Given the description of an element on the screen output the (x, y) to click on. 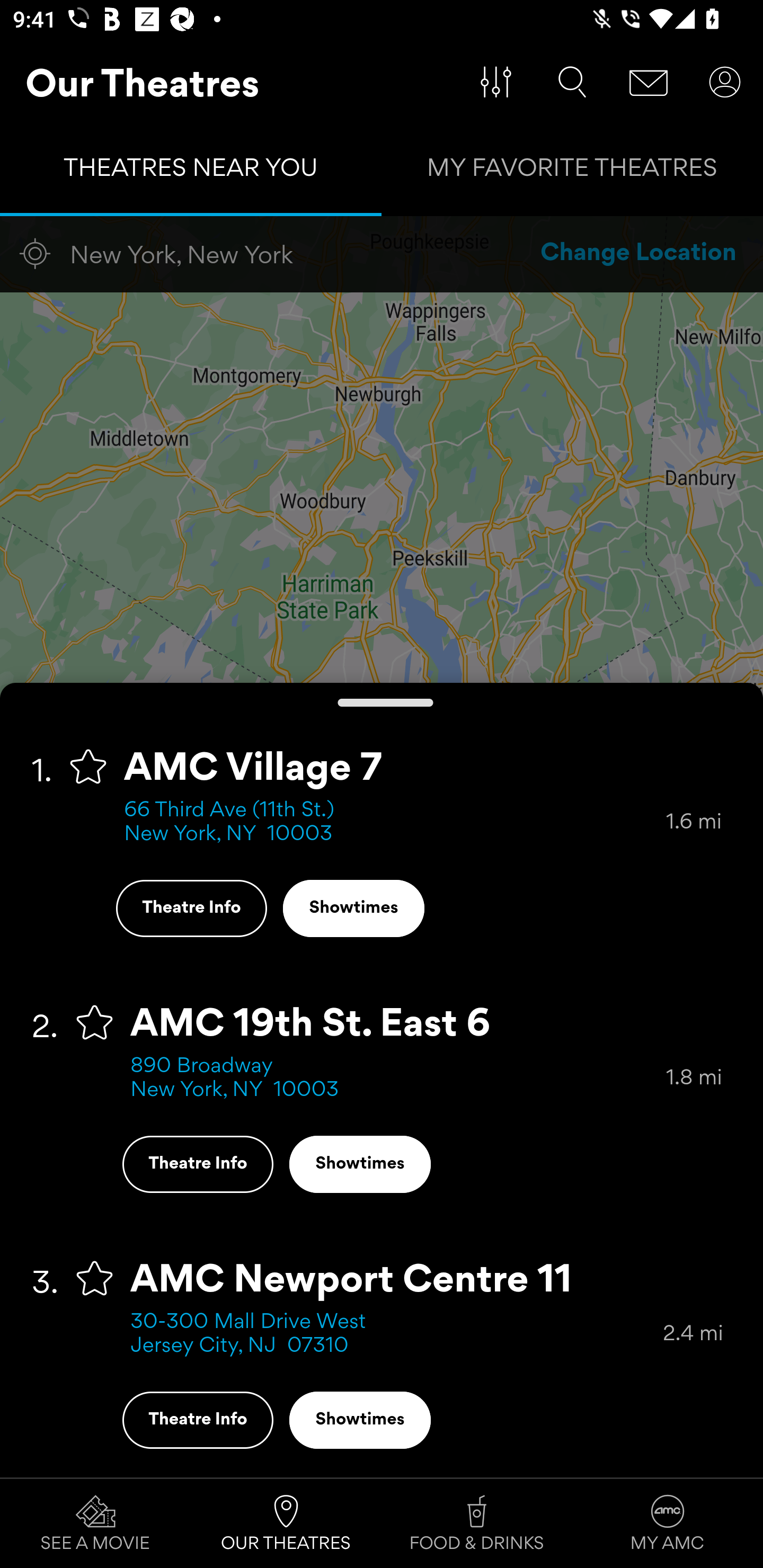
Filter Theatres (495, 82)
Search (572, 82)
Message Center (648, 82)
User Account (724, 82)
THEATRES NEAR YOU
Tab 1 of 2 (190, 171)
MY FAVORITE THEATRES
Tab 2 of 2 (572, 171)
66 Third Ave (11th St.)  
New York, NY  10003 (394, 822)
Theatre Info (191, 908)
Showtimes (353, 908)
890 Broadway  
New York, NY  10003 (398, 1078)
Theatre Info (197, 1163)
Showtimes (360, 1163)
30-300 Mall Drive West  
Jersey City, NJ  07310 (396, 1333)
Theatre Info (197, 1419)
Showtimes (360, 1419)
SEE A MOVIE
Tab 1 of 4 (95, 1523)
OUR THEATRES
Tab 2 of 4 (285, 1523)
FOOD & DRINKS
Tab 3 of 4 (476, 1523)
MY AMC
Tab 4 of 4 (667, 1523)
